Given the description of an element on the screen output the (x, y) to click on. 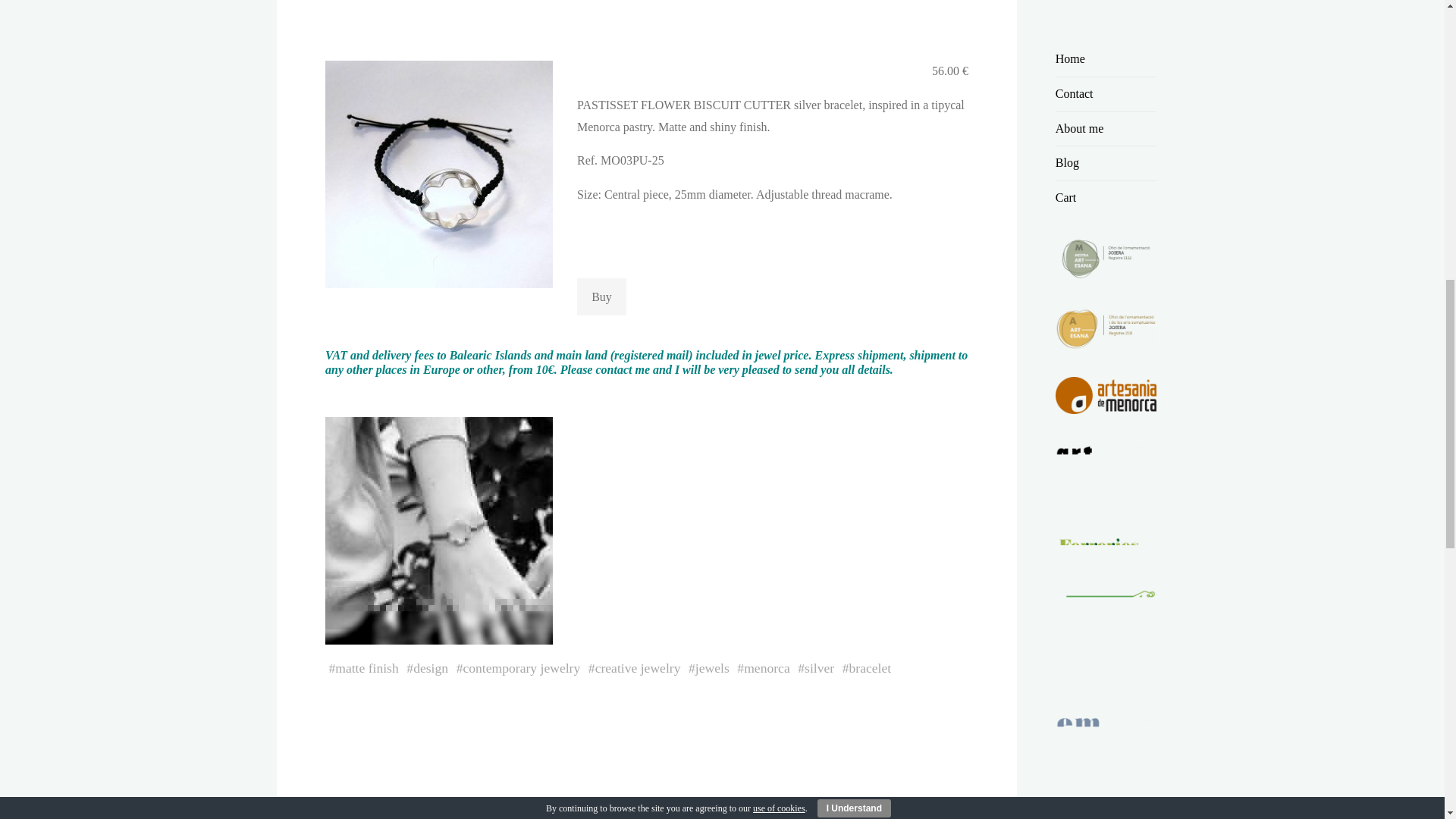
Cart (1066, 196)
jewels (711, 667)
Contact (1074, 92)
design (430, 667)
Buy (601, 296)
silver (819, 667)
About me (1079, 128)
Blog (1066, 162)
bracelet (869, 667)
Home (1069, 58)
